Given the description of an element on the screen output the (x, y) to click on. 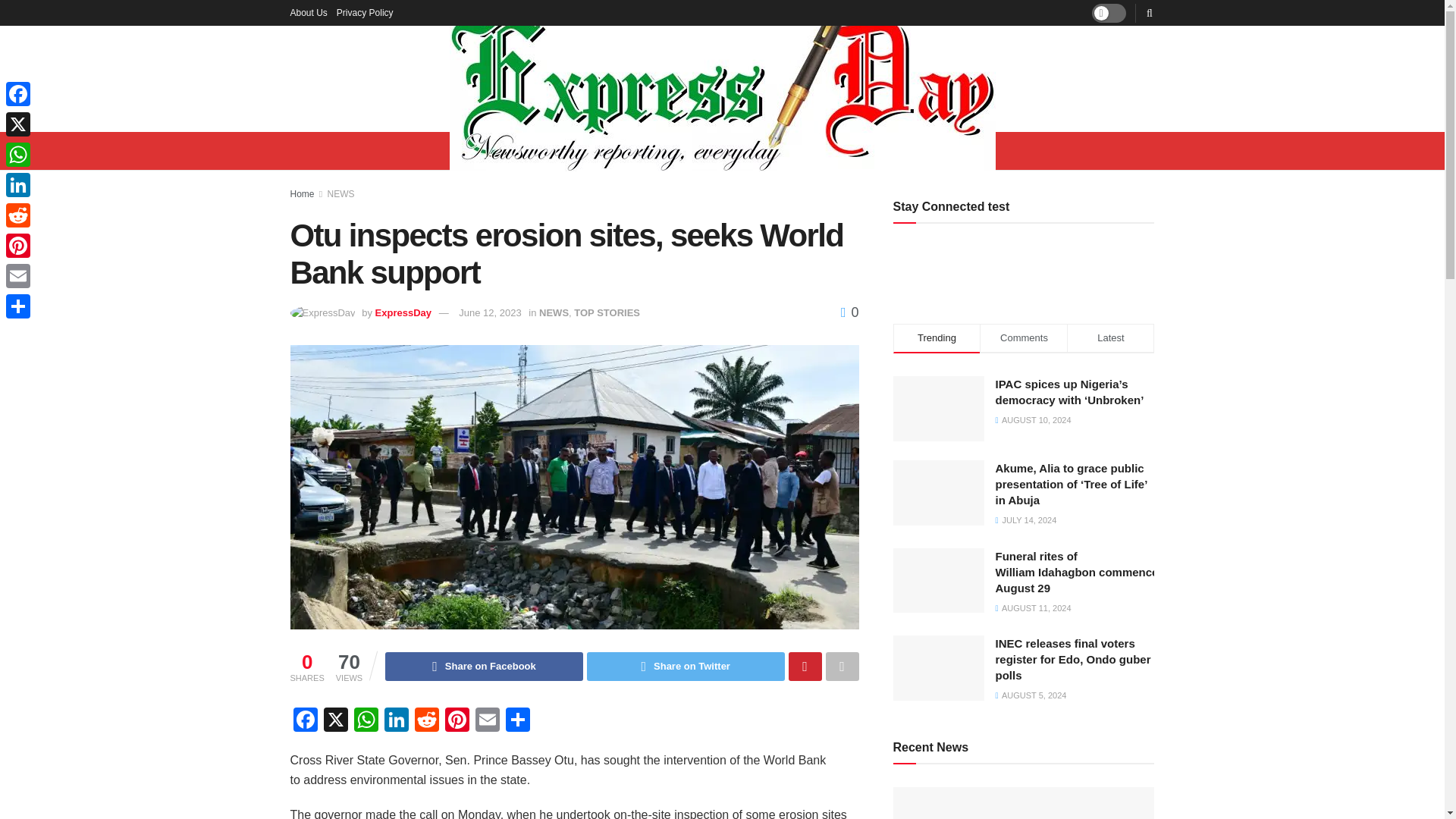
X (335, 721)
LinkedIn (17, 184)
Share on Facebook (484, 665)
ExpressDay (402, 312)
HOME (480, 150)
SPORTS (957, 150)
Home (301, 194)
X (17, 123)
Email (486, 721)
BUSINESS (611, 150)
